Given the description of an element on the screen output the (x, y) to click on. 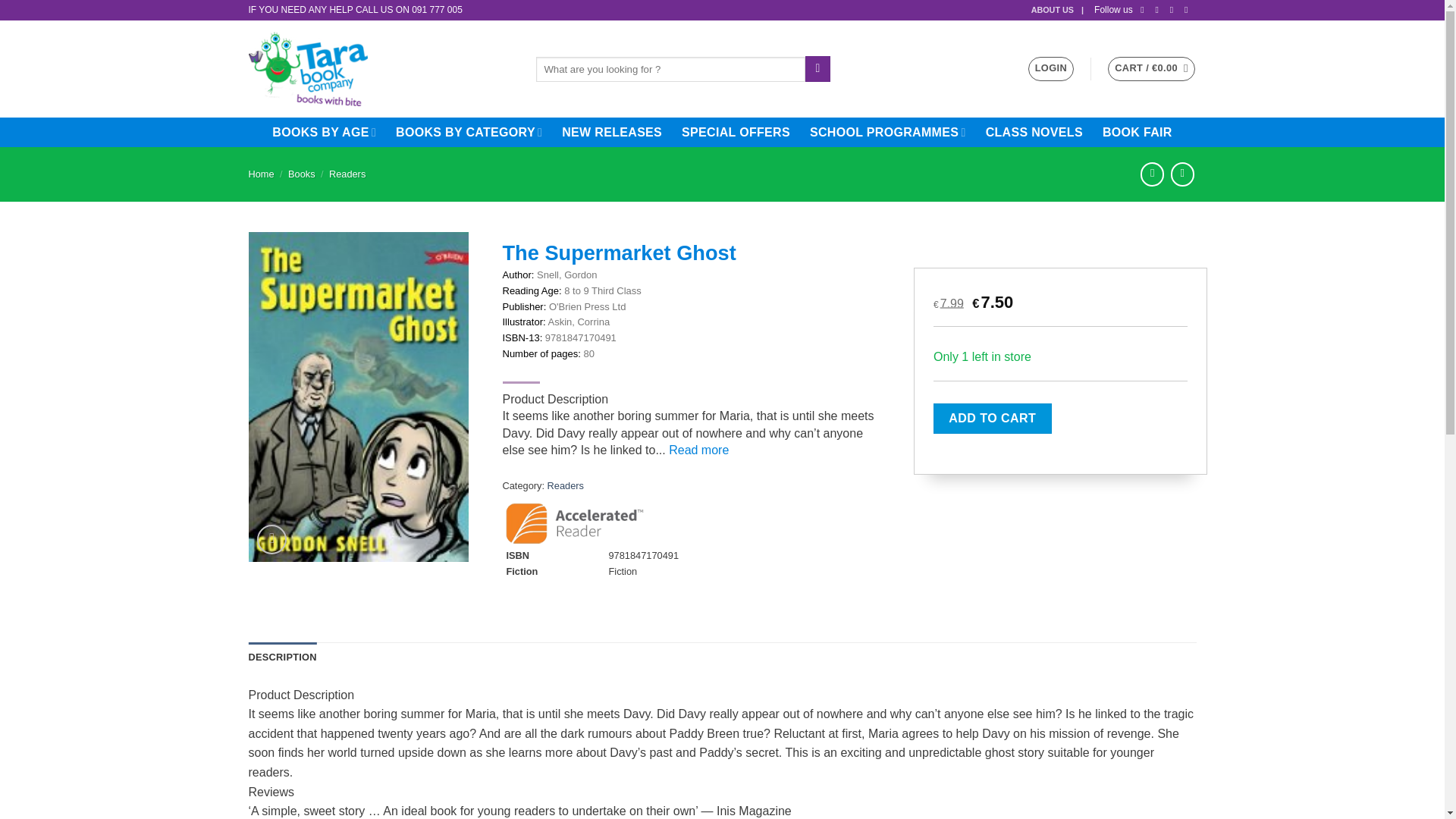
Cart (1151, 68)
BOOKS BY CATEGORY (468, 132)
Search (817, 68)
Zoom (271, 539)
ABOUT US (1056, 10)
LOGIN (1050, 68)
Tara Book Co - Books with Bite (380, 68)
BOOKS BY AGE (323, 132)
